Given the description of an element on the screen output the (x, y) to click on. 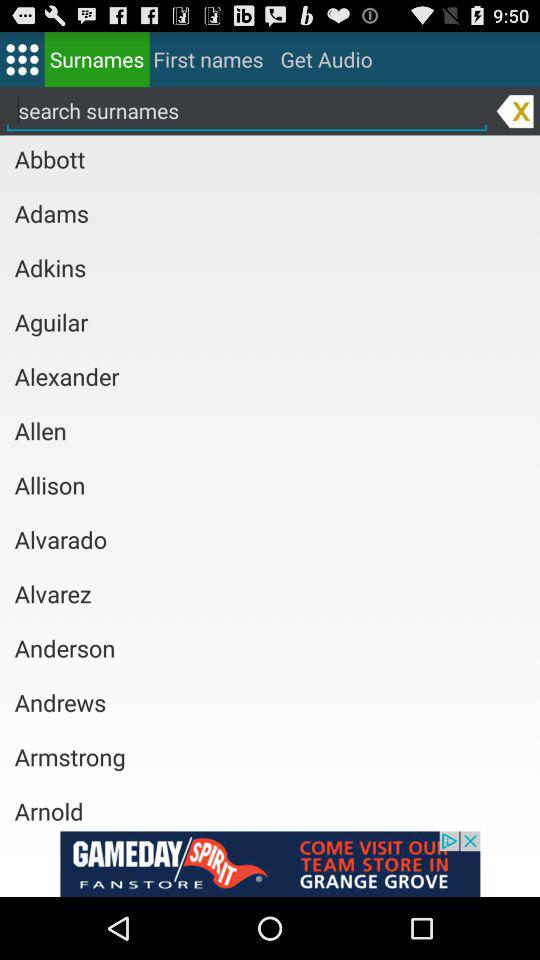
delete text (514, 110)
